Given the description of an element on the screen output the (x, y) to click on. 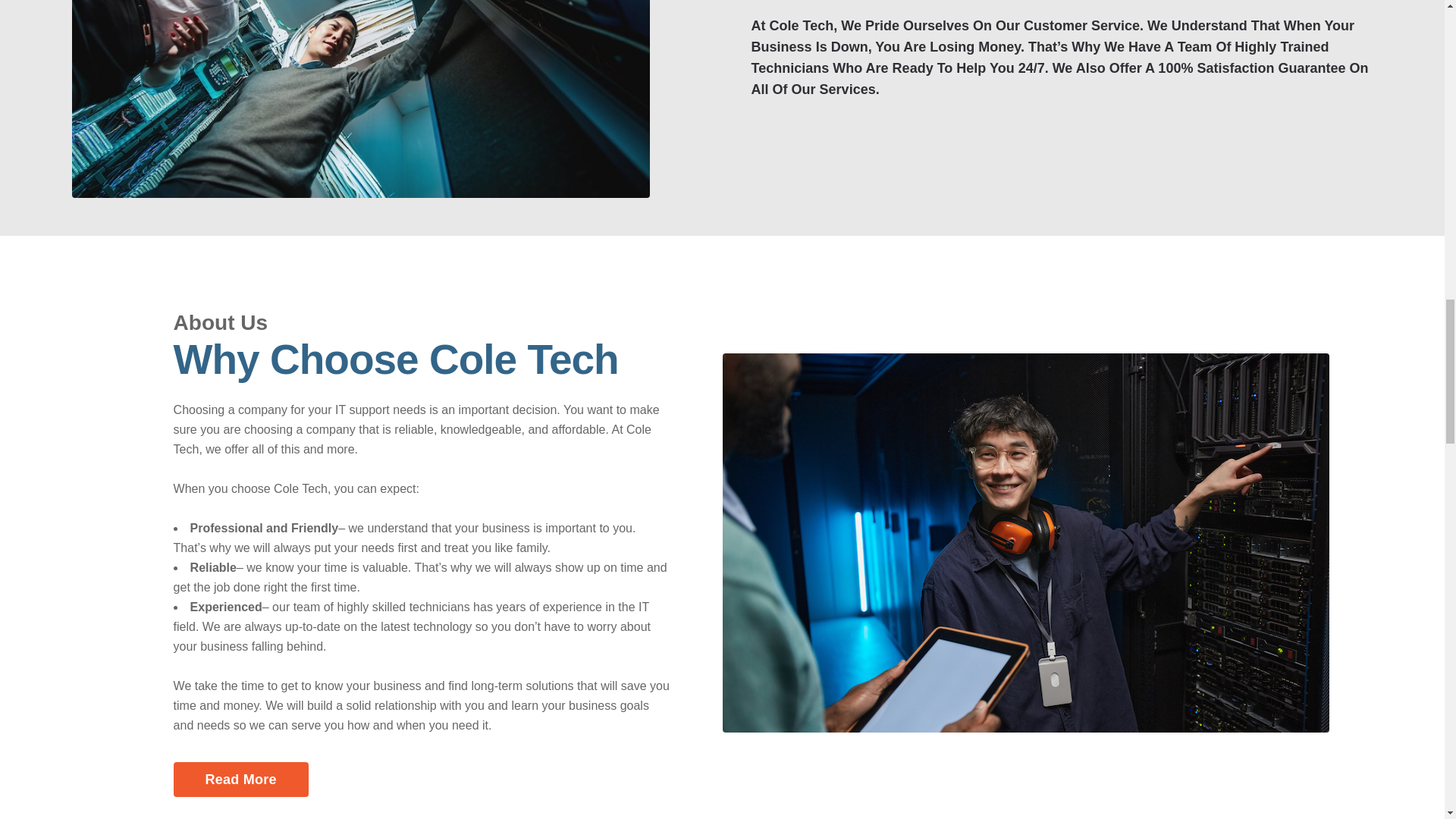
About Cole Tech Tulsa (360, 99)
Read More (240, 779)
